Given the description of an element on the screen output the (x, y) to click on. 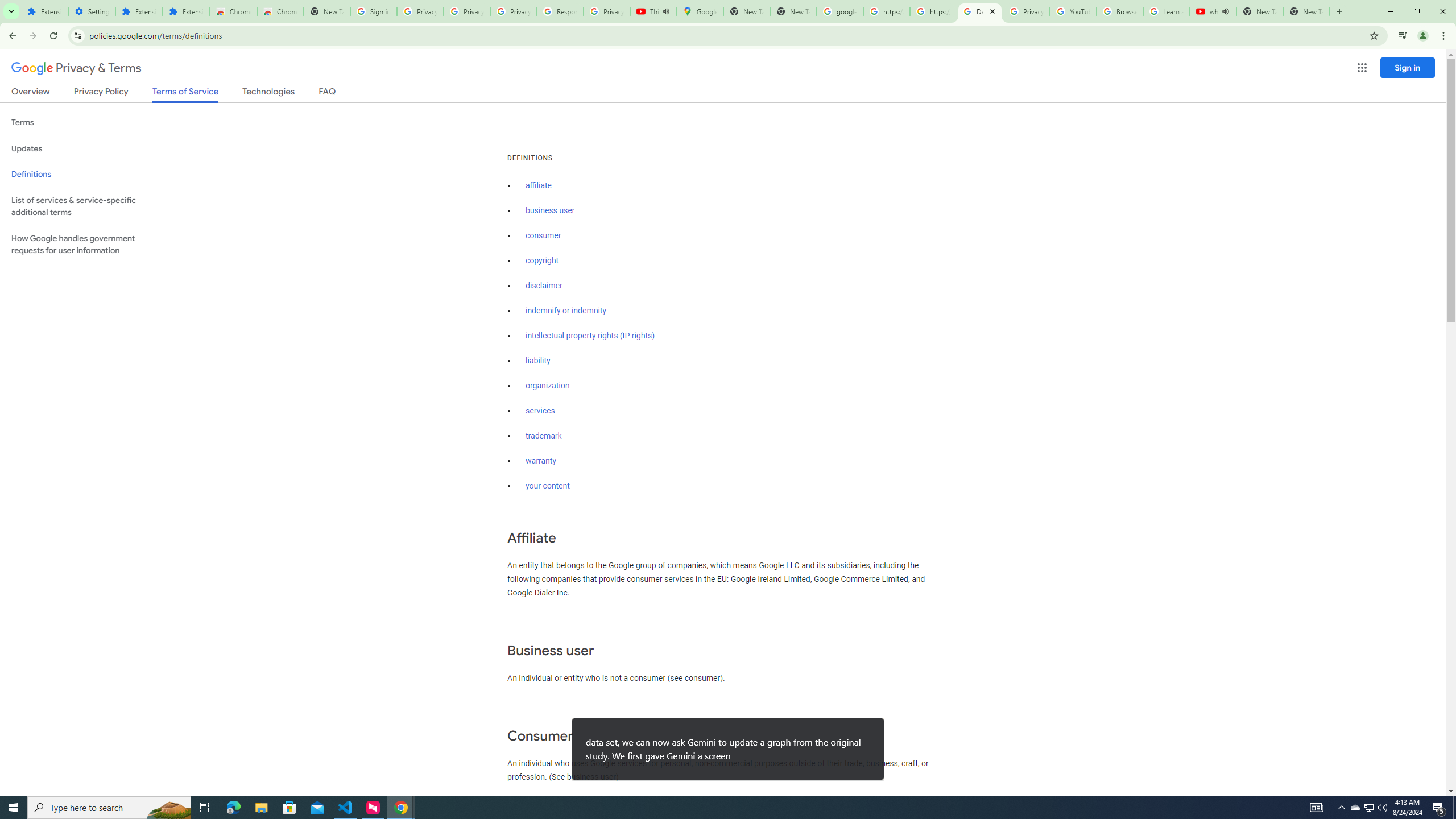
https://scholar.google.com/ (886, 11)
organization (547, 385)
disclaimer (543, 285)
Browse Chrome as a guest - Computer - Google Chrome Help (1120, 11)
Chrome Web Store (233, 11)
affiliate (538, 185)
